Given the description of an element on the screen output the (x, y) to click on. 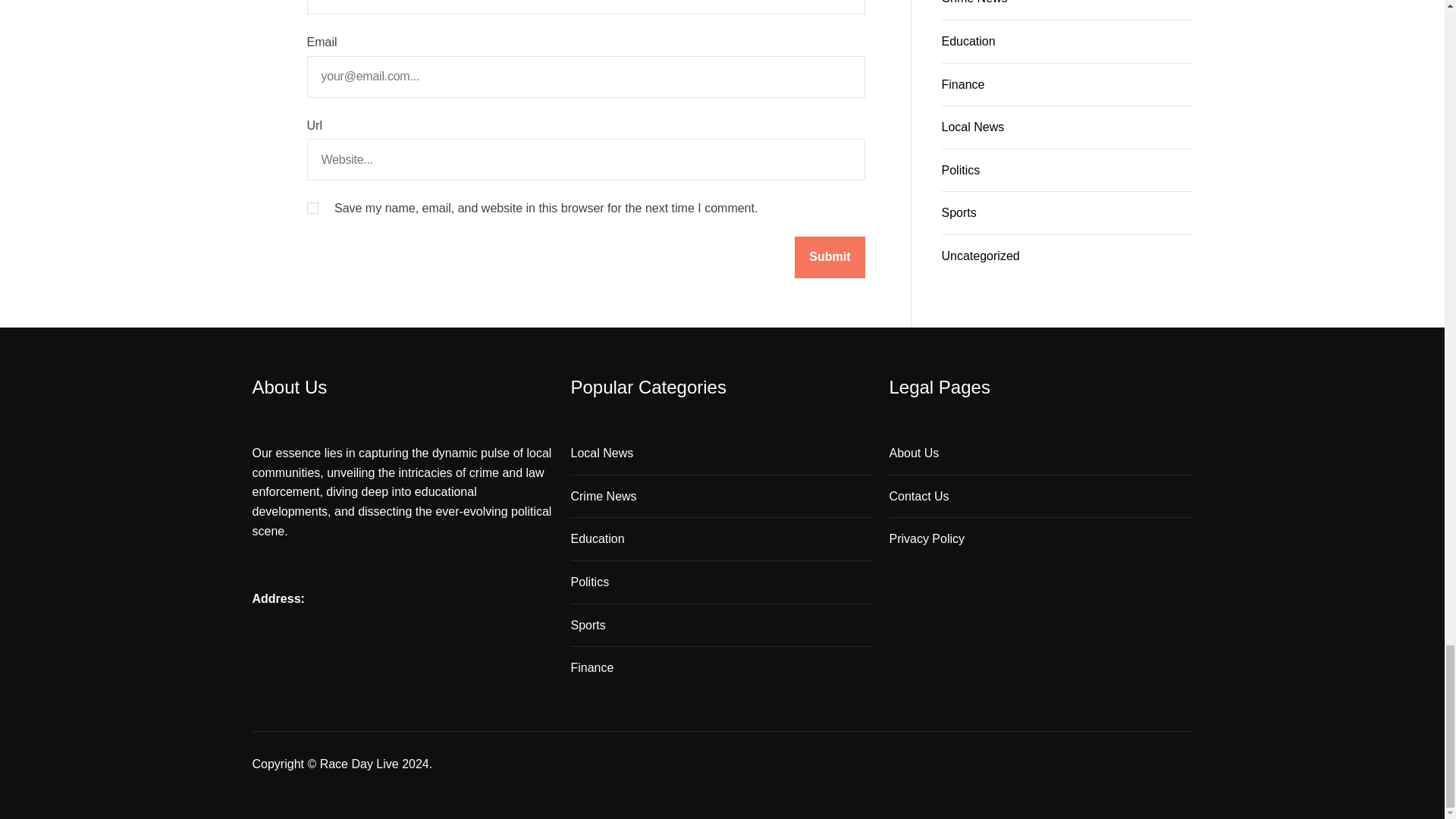
yes (311, 207)
Submit (829, 257)
